Given the description of an element on the screen output the (x, y) to click on. 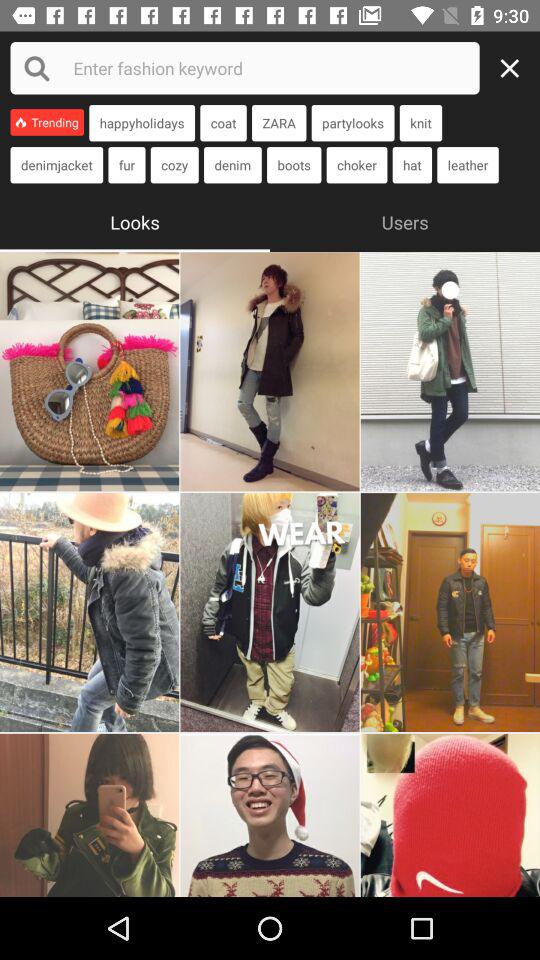
enlarge this photo (269, 612)
